Given the description of an element on the screen output the (x, y) to click on. 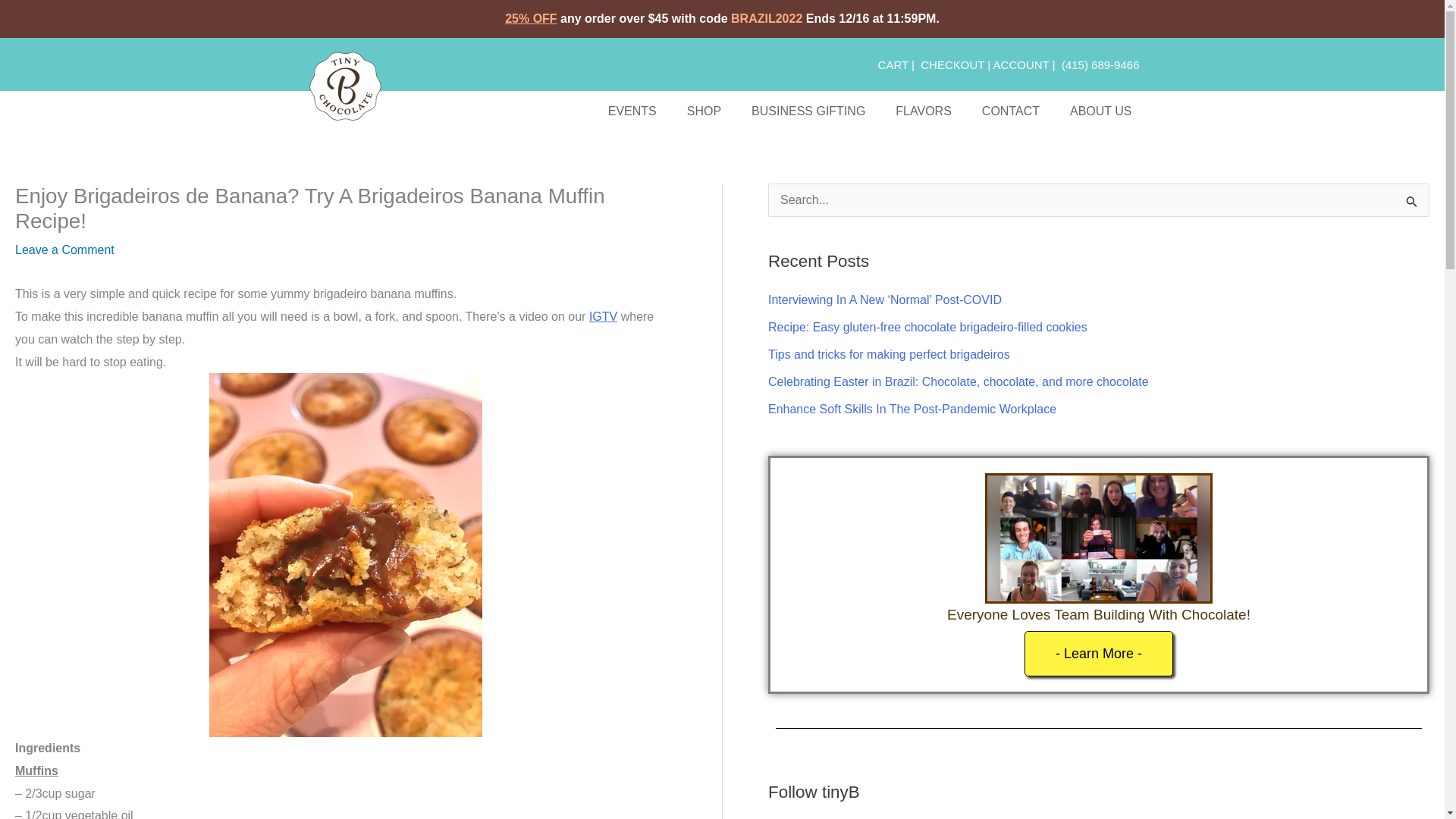
BRAZIL2022 (766, 18)
ABOUT US (1100, 111)
Leave a Comment (64, 249)
tinyB Checkout (952, 64)
Login (1020, 64)
Chocolate gifts for companies and businesses (808, 111)
FLAVORS (923, 111)
tinyB Chocolate Cart (892, 64)
BUSINESS GIFTING (808, 111)
SHOP (703, 111)
